Given the description of an element on the screen output the (x, y) to click on. 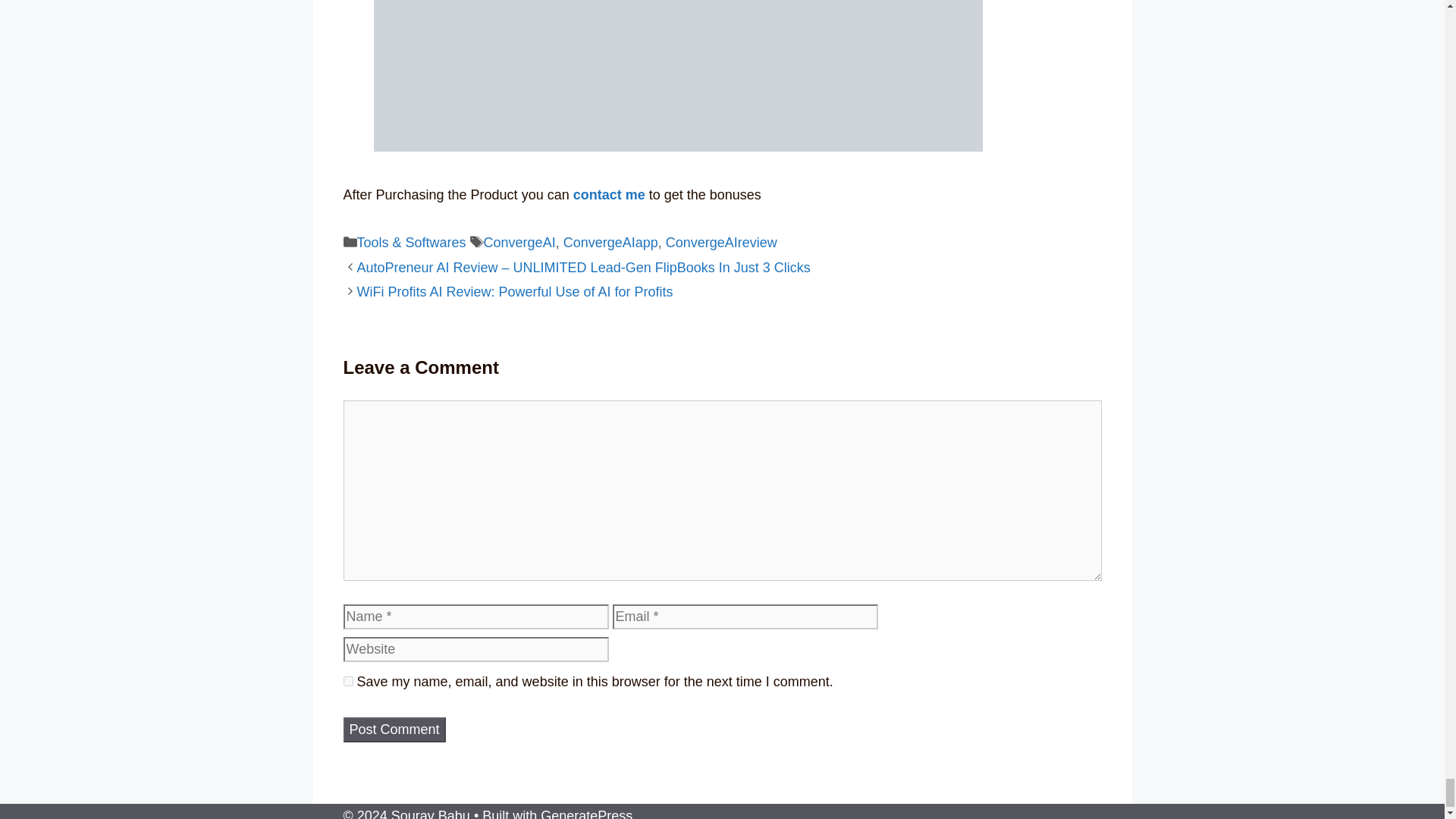
ConvergeAI (519, 242)
WiFi Profits AI Review: Powerful Use of AI for Profits (514, 291)
Post Comment (393, 729)
ConvergeAIreview (721, 242)
yes (347, 681)
Post Comment (393, 729)
contact me (609, 194)
ConvergeAIapp (610, 242)
GeneratePress (585, 813)
